Given the description of an element on the screen output the (x, y) to click on. 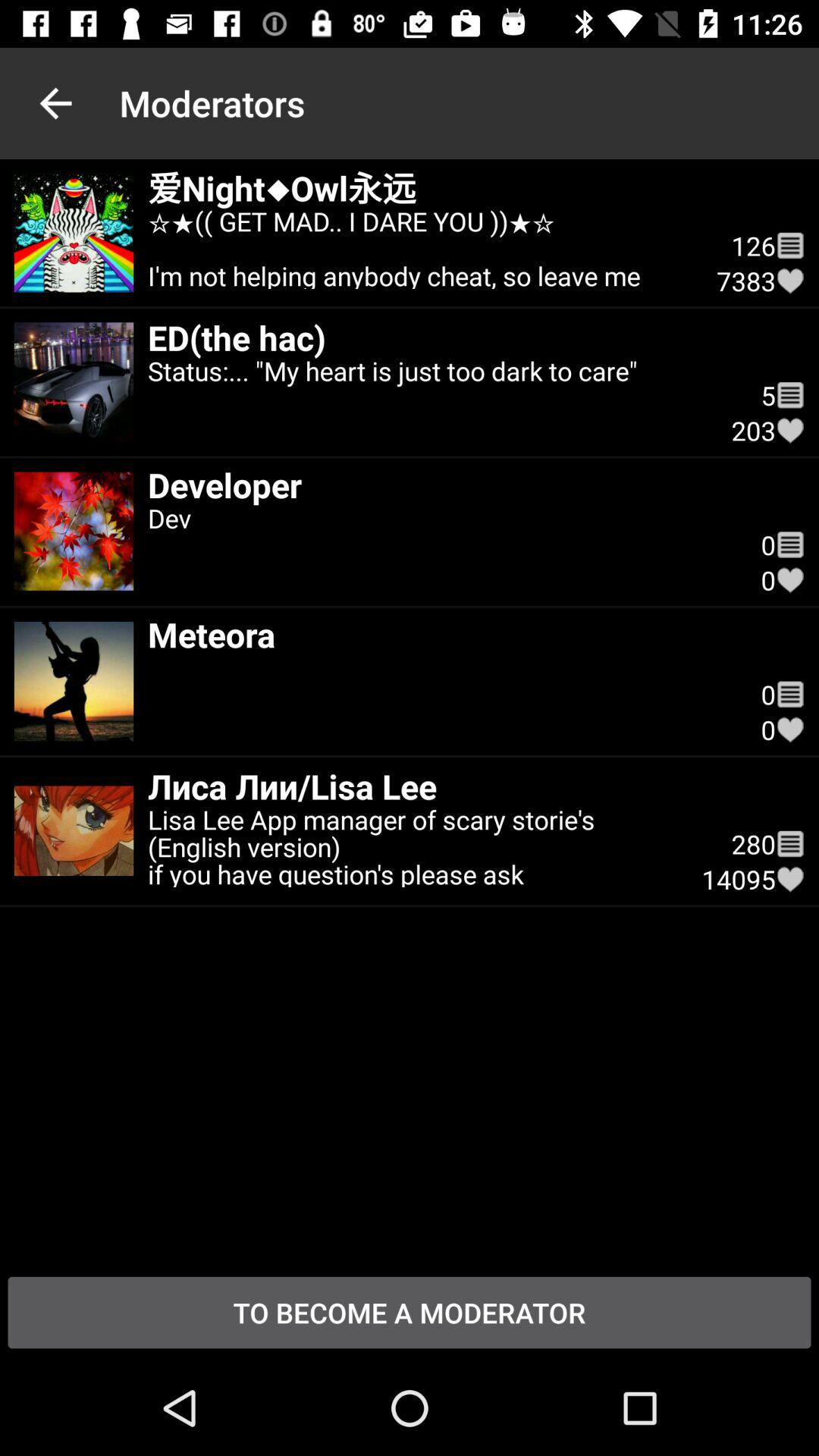
jump until meteora icon (439, 634)
